Given the description of an element on the screen output the (x, y) to click on. 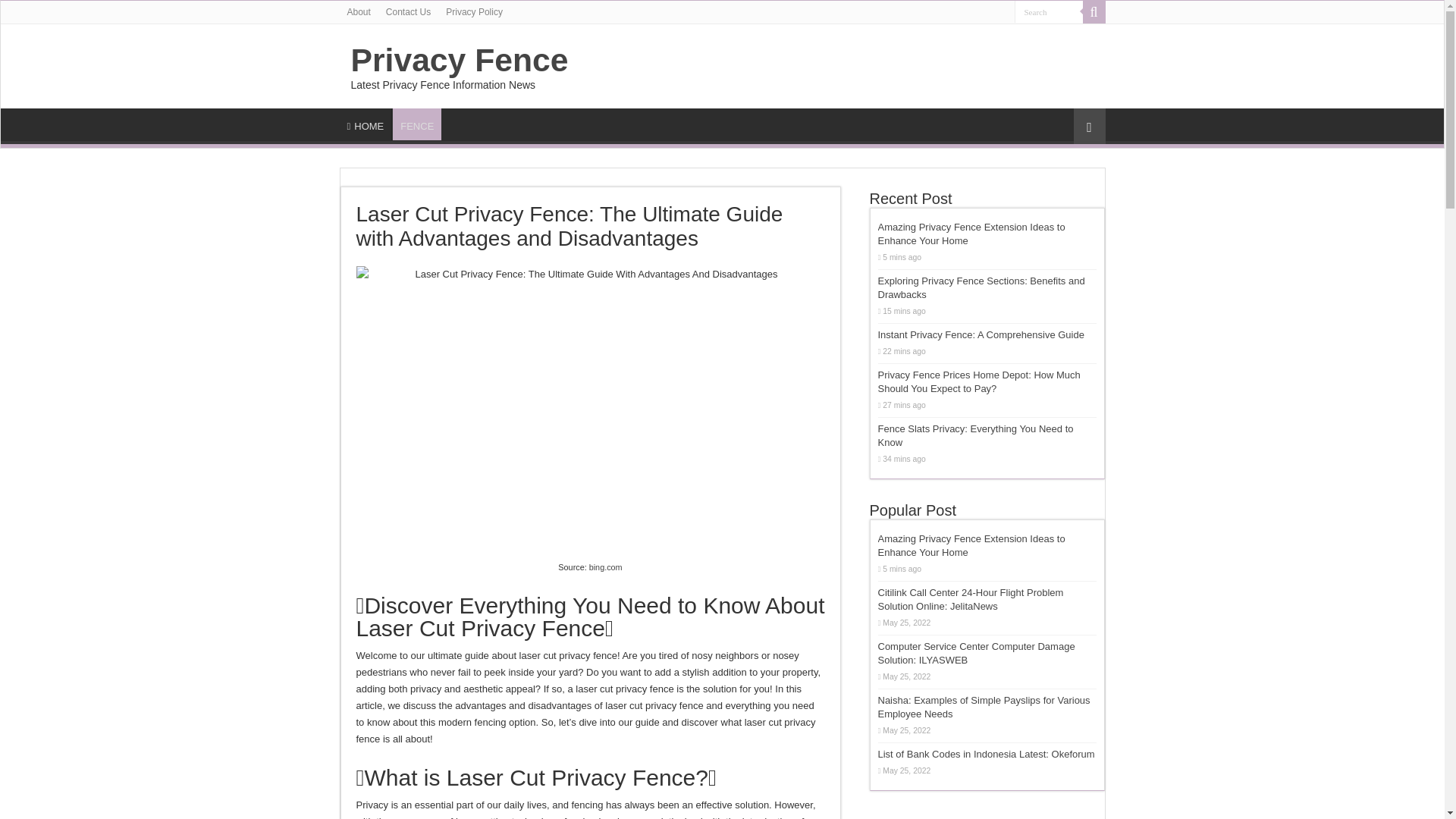
Search (1094, 11)
Amazing Privacy Fence Extension Ideas to Enhance Your Home (971, 545)
Contact Us (408, 11)
Search (1048, 11)
HOME (365, 124)
List of Bank Codes in Indonesia Latest: Okeforum (985, 754)
Search (1048, 11)
FENCE (416, 124)
Privacy Fence (458, 59)
